Given the description of an element on the screen output the (x, y) to click on. 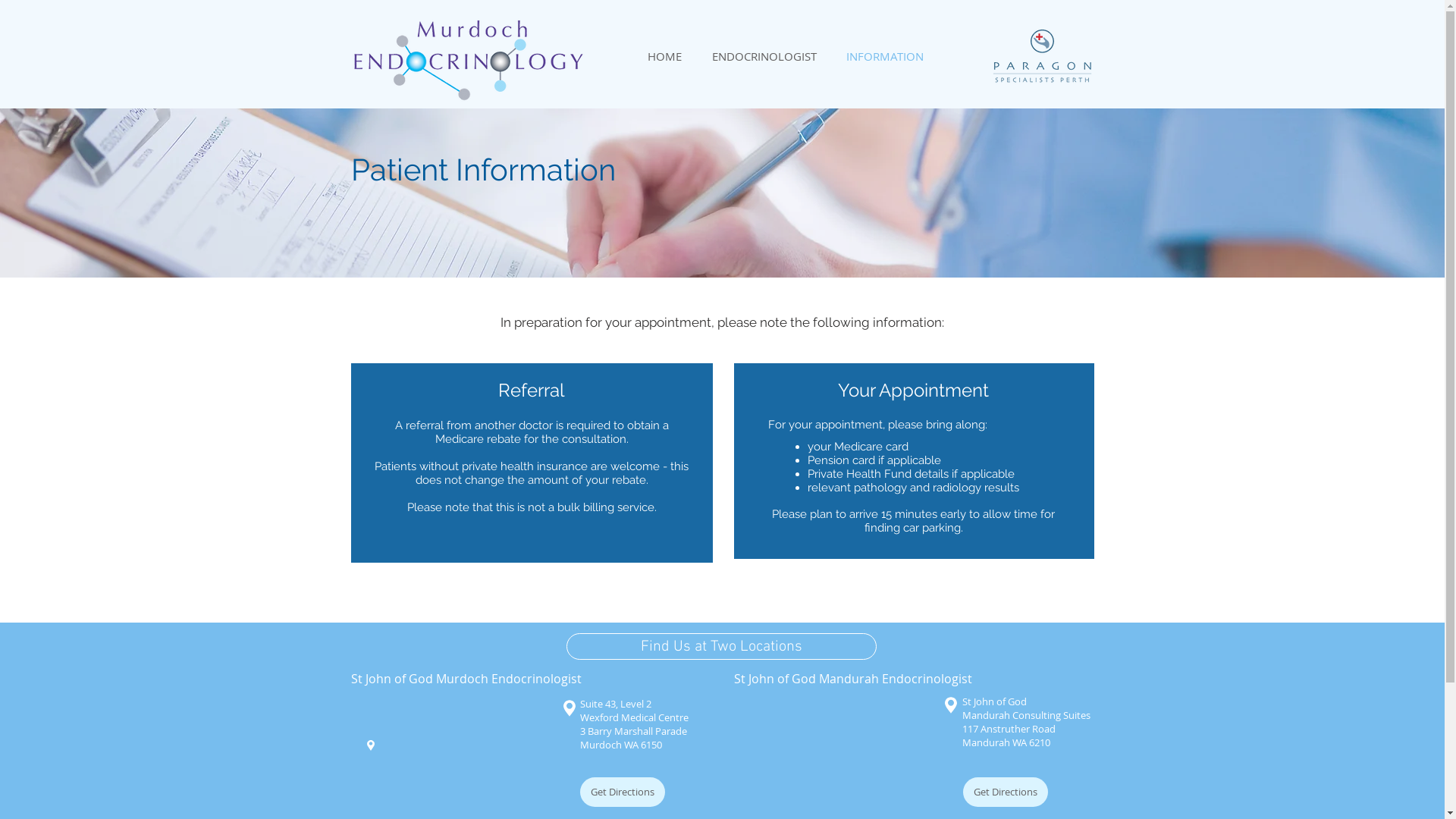
HOME Element type: text (664, 56)
Get Directions Element type: text (621, 791)
ENDOCRINOLOGIST Element type: text (763, 56)
INFORMATION Element type: text (884, 56)
Murdoch Endocrinology Element type: hover (473, 56)
Get Directions Element type: text (1005, 791)
